Given the description of an element on the screen output the (x, y) to click on. 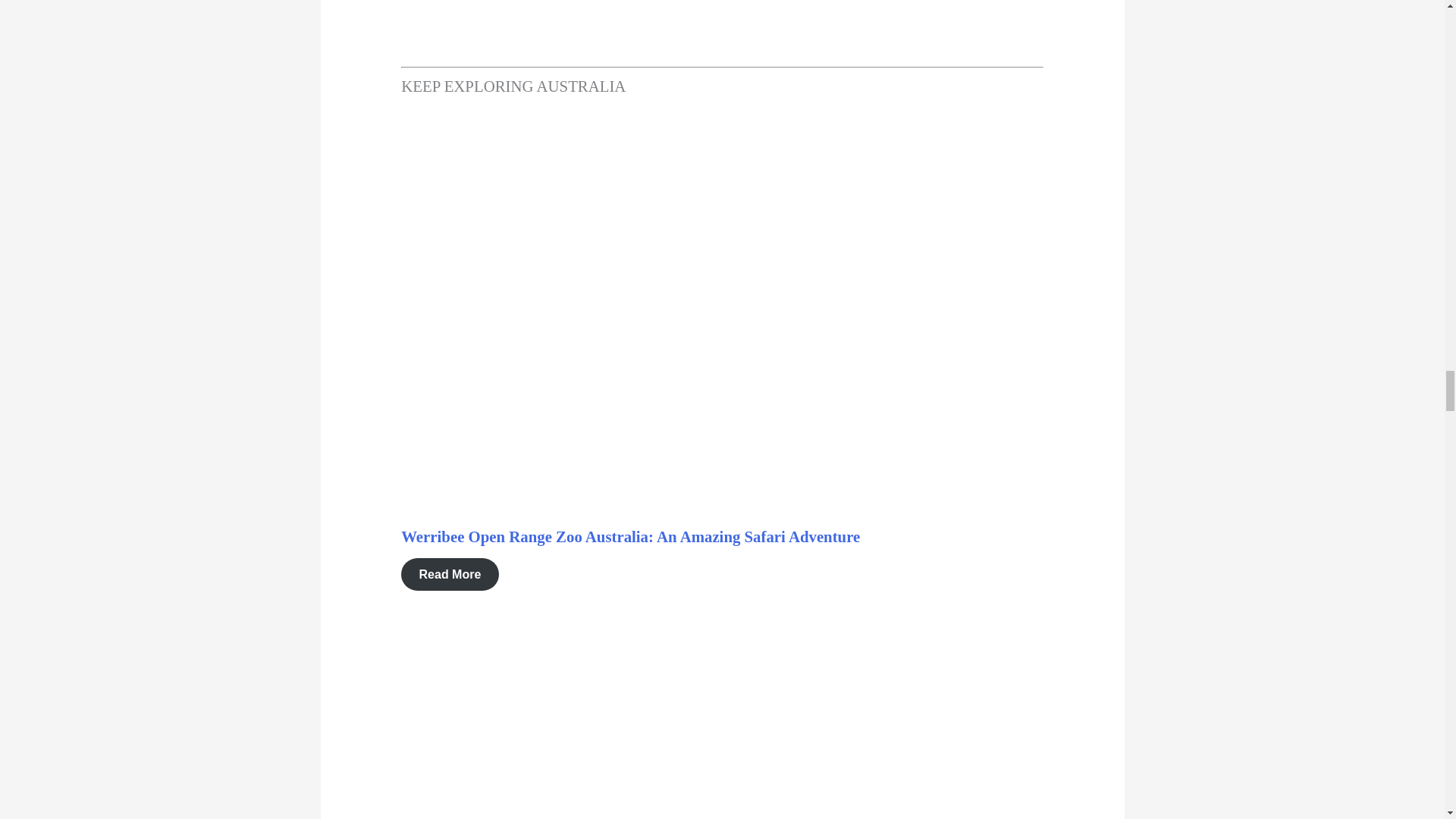
The Best Great Ocean Road Itinerary 9 (692, 318)
The Best Great Ocean Road Itinerary 10 (643, 746)
The Best Great Ocean Road Itinerary 8 (482, 27)
